Given the description of an element on the screen output the (x, y) to click on. 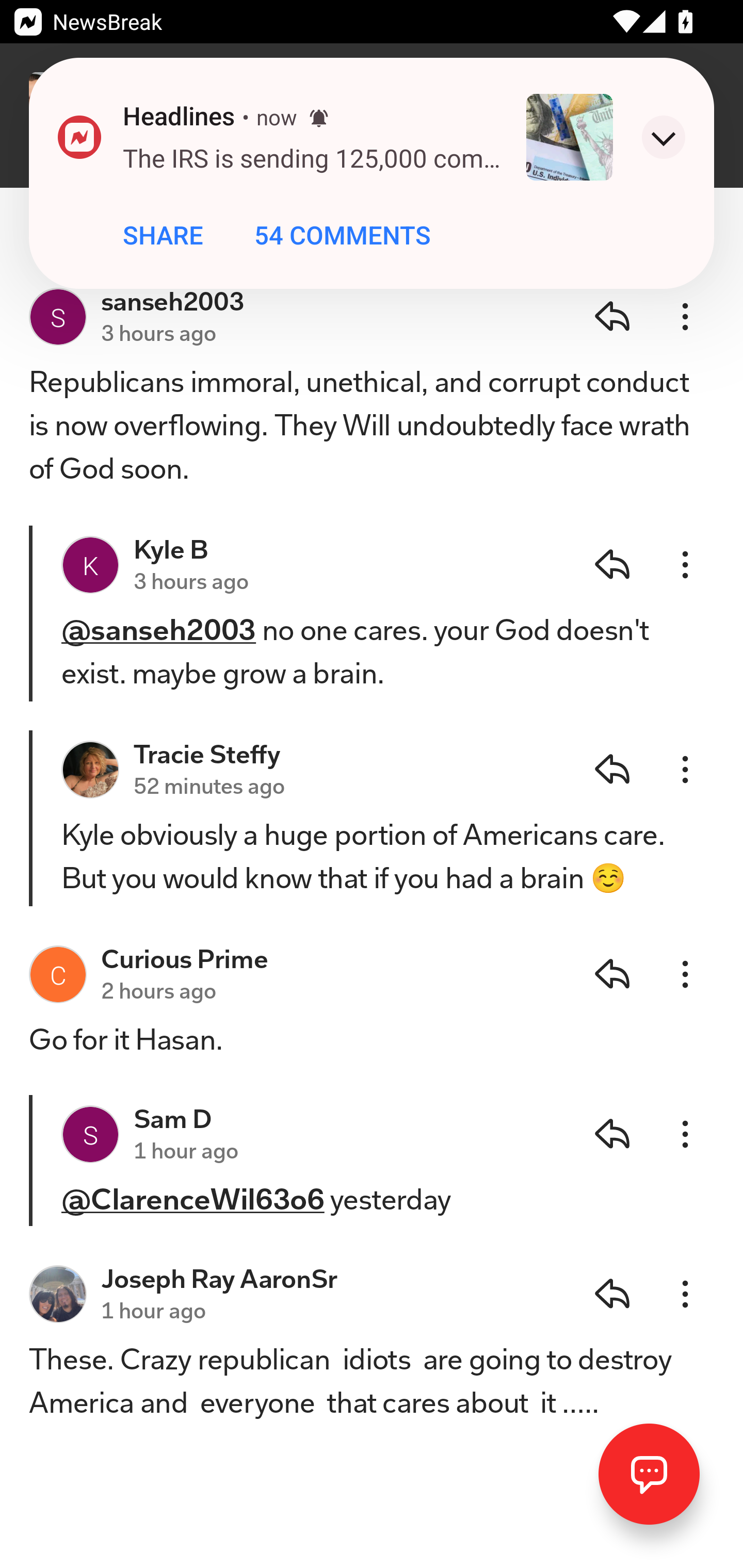
sanseh2003 (173, 301)
sanseh2003 (57, 316)
Kyle B (170, 549)
Kyle B (89, 565)
Tracie Steffy (206, 741)
Tracie Steffy (89, 768)
Curious Prime (184, 958)
Curious Prime (57, 974)
Sam D (173, 1118)
Sam D (89, 1134)
Joseph Ray AaronSr (219, 1278)
Joseph Ray AaronSr (57, 1294)
